Given the description of an element on the screen output the (x, y) to click on. 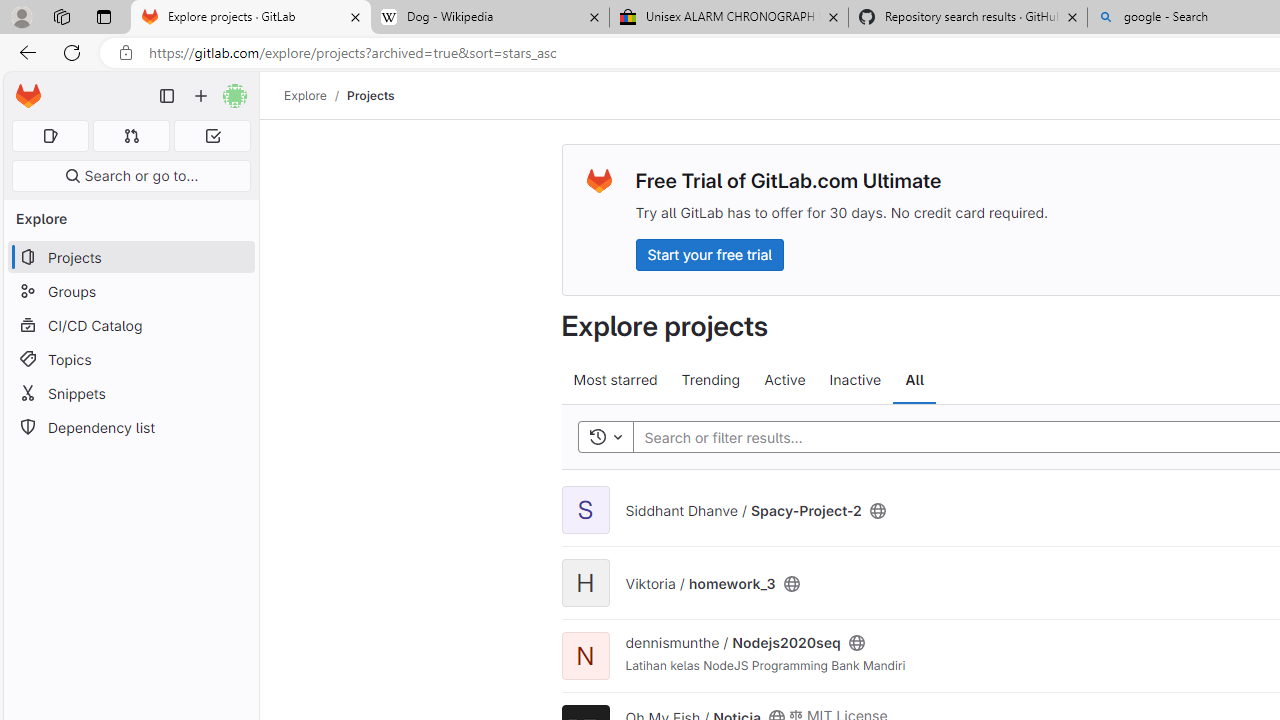
Groups (130, 291)
Create new... (201, 96)
H (585, 582)
Projects (370, 95)
Explore/ (316, 95)
All (914, 379)
Topics (130, 358)
Dependency list (130, 427)
Inactive (854, 379)
Start your free trial (709, 254)
